Given the description of an element on the screen output the (x, y) to click on. 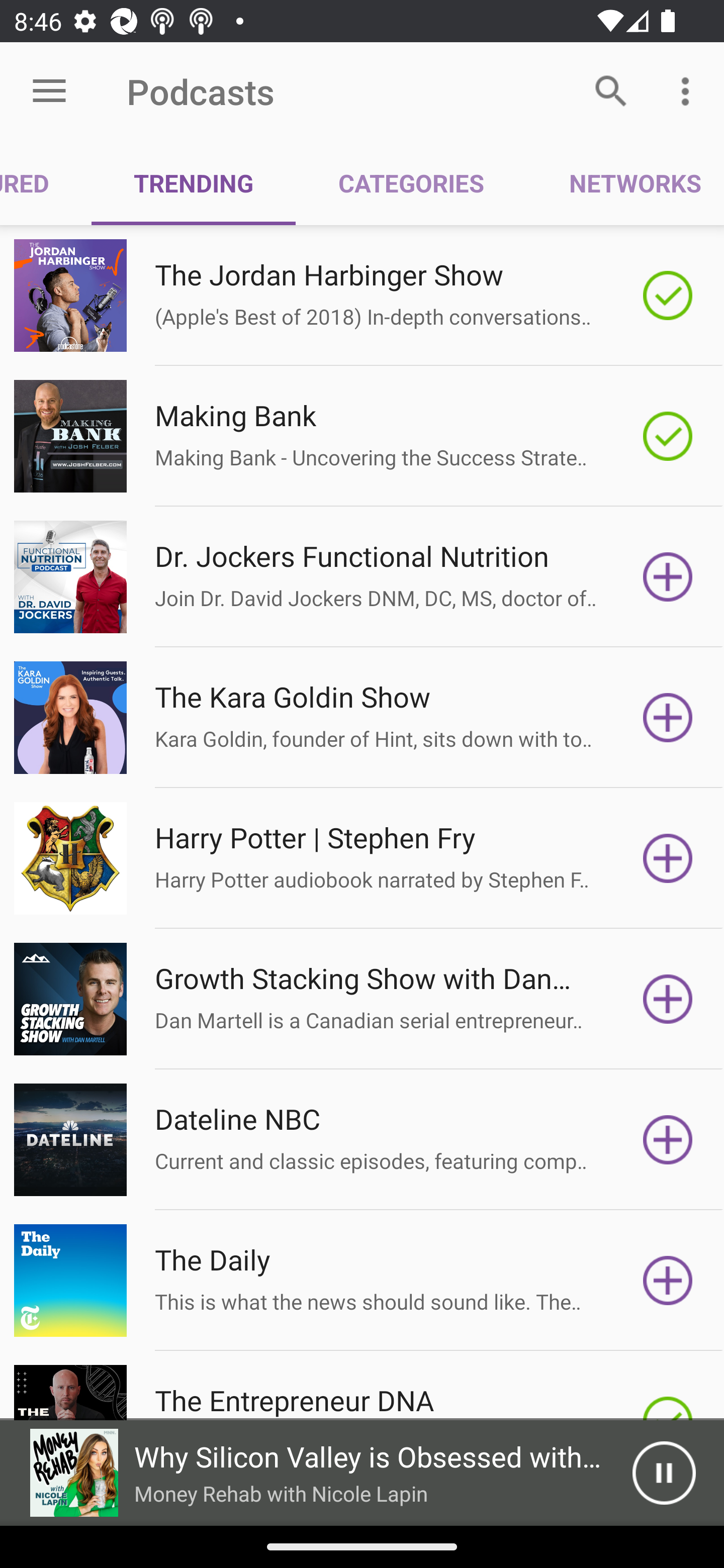
Open menu (49, 91)
Search (611, 90)
More options (688, 90)
TRENDING (193, 183)
CATEGORIES (410, 183)
NETWORKS (625, 183)
Subscribed (667, 295)
Subscribed (667, 435)
Subscribe (667, 576)
Subscribe (667, 717)
Subscribe (667, 858)
Subscribe (667, 998)
Subscribe (667, 1139)
Subscribe (667, 1280)
Pause (663, 1472)
